Given the description of an element on the screen output the (x, y) to click on. 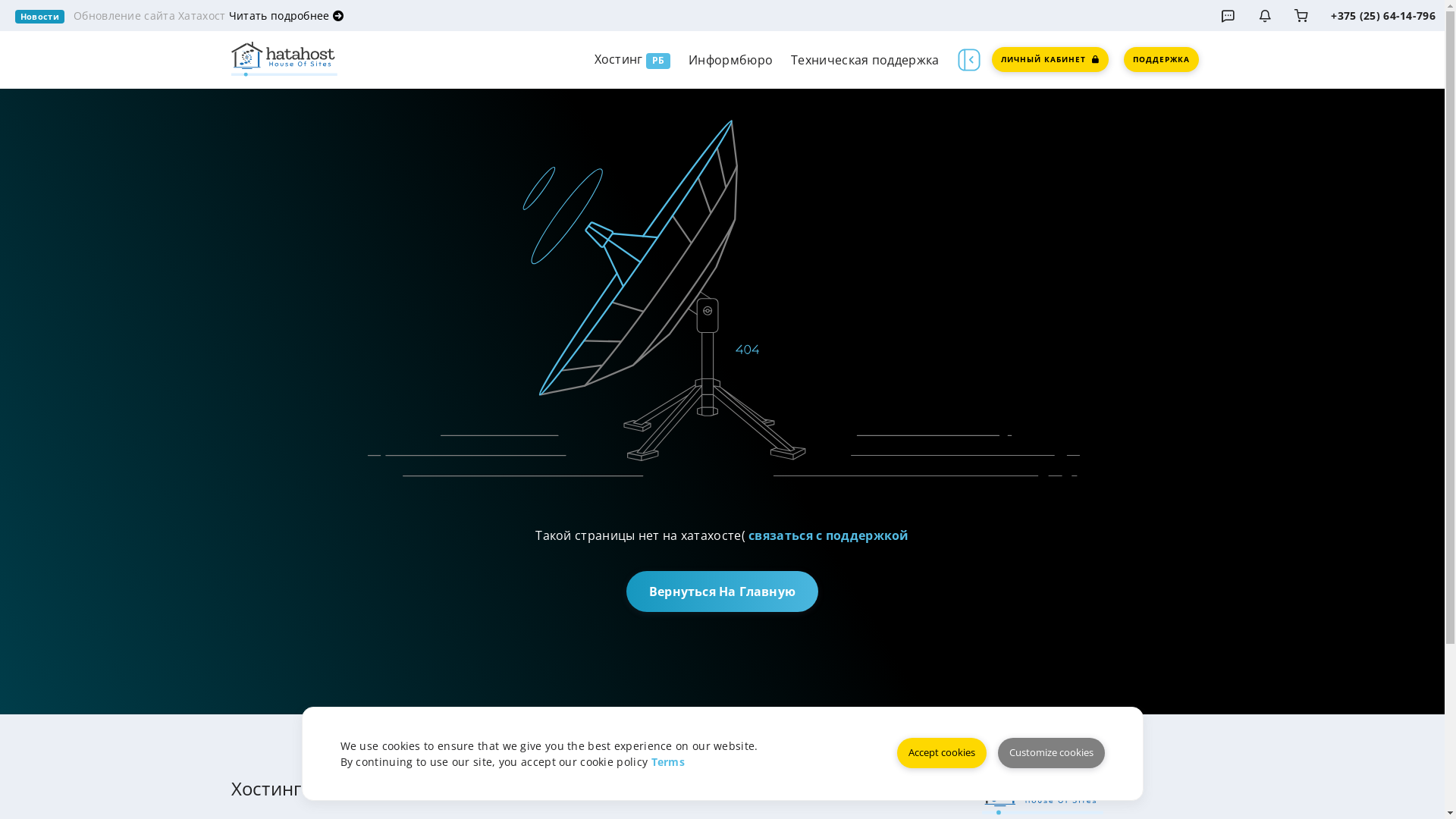
Customize cookies Element type: text (1050, 752)
Terms Element type: text (667, 761)
Accept cookies Element type: text (940, 752)
+375 (25) 64-14-796 Element type: text (1382, 15)
Login Element type: hover (1301, 15)
